Given the description of an element on the screen output the (x, y) to click on. 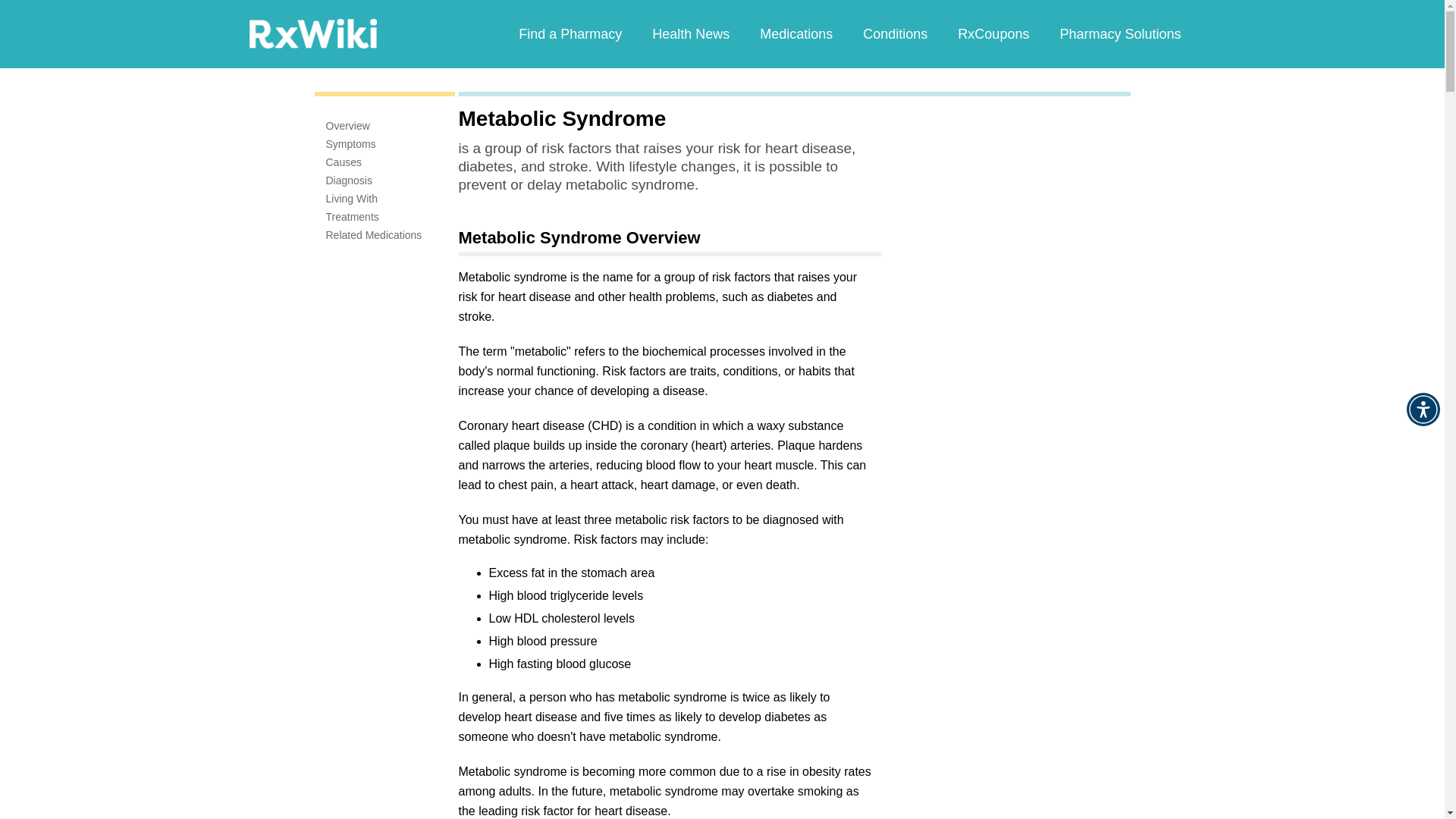
Pharmacy Solutions (1119, 33)
Living With (351, 198)
Symptoms (350, 143)
Find a Pharmacy (570, 33)
Related Medications (374, 234)
Health News (690, 33)
RxCoupons (992, 33)
Medications (795, 33)
RxWiki (312, 32)
Overview (347, 125)
Causes (343, 162)
Diagnosis (349, 180)
Conditions (894, 33)
Treatments (352, 216)
Accessibility Menu (1422, 409)
